Given the description of an element on the screen output the (x, y) to click on. 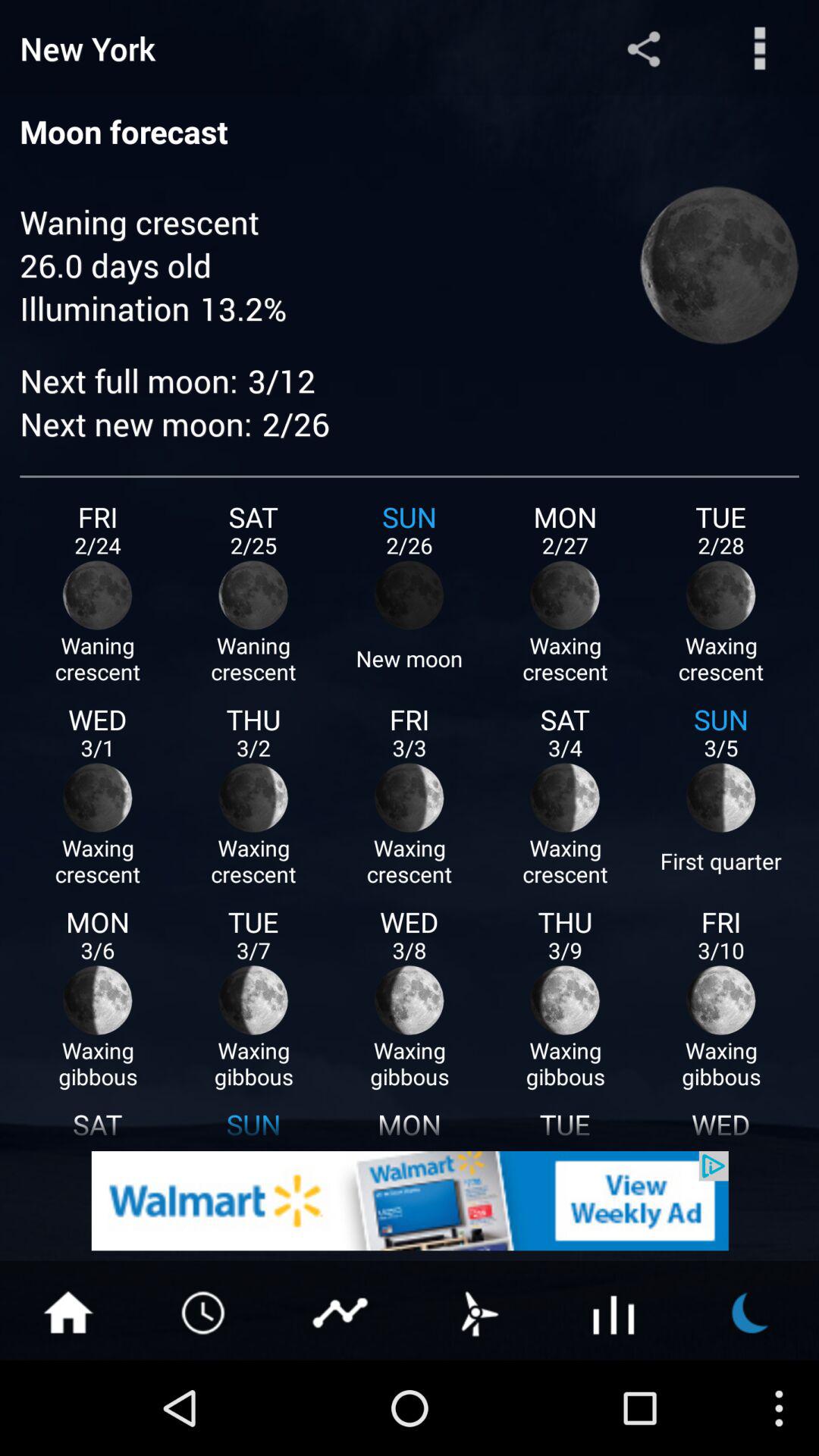
share content (341, 1311)
